Given the description of an element on the screen output the (x, y) to click on. 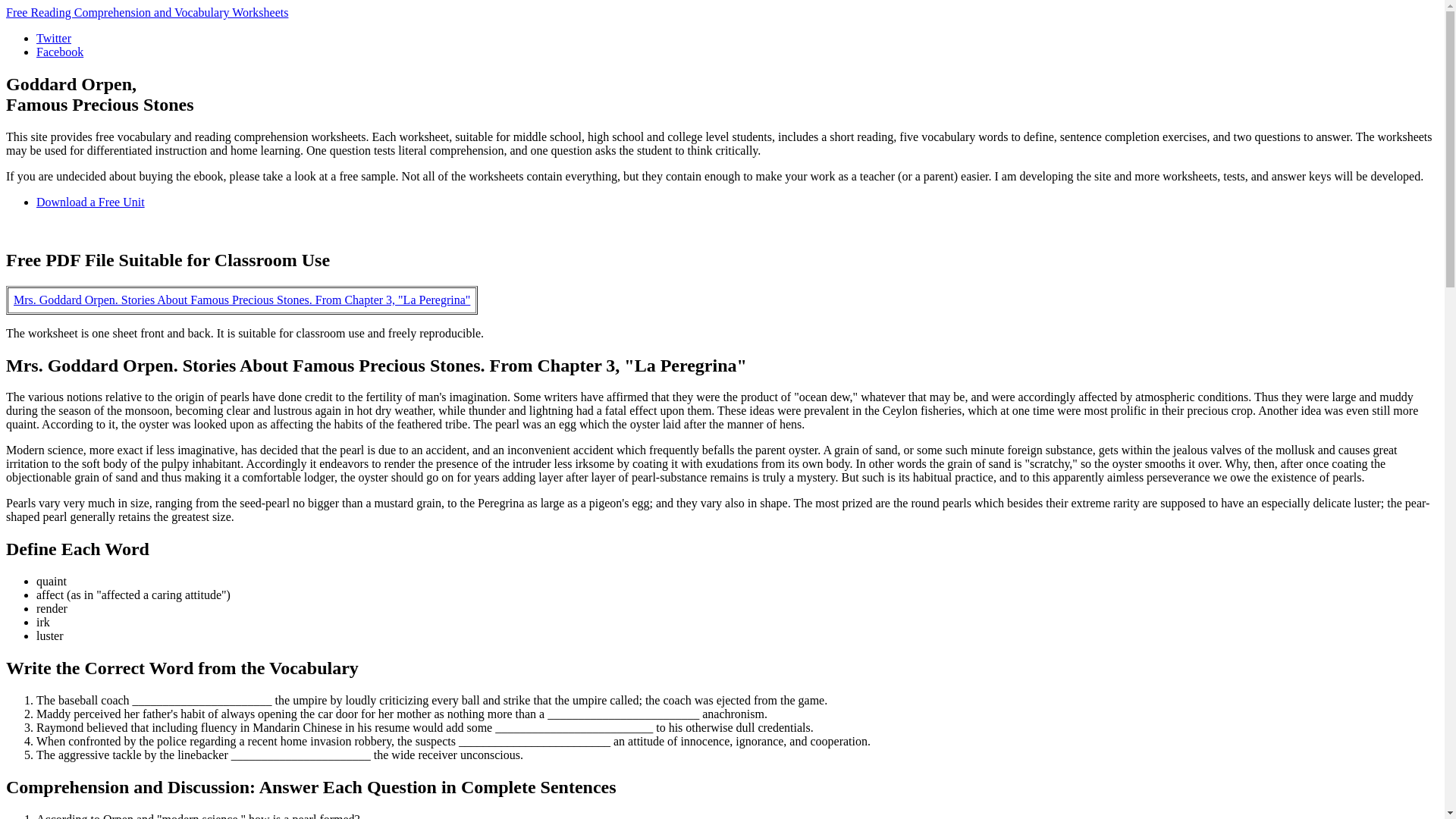
Facebook (59, 51)
Download a Free Unit (90, 201)
Twitter (53, 38)
Free Reading Comprehension and Vocabulary Worksheets (146, 11)
